Given the description of an element on the screen output the (x, y) to click on. 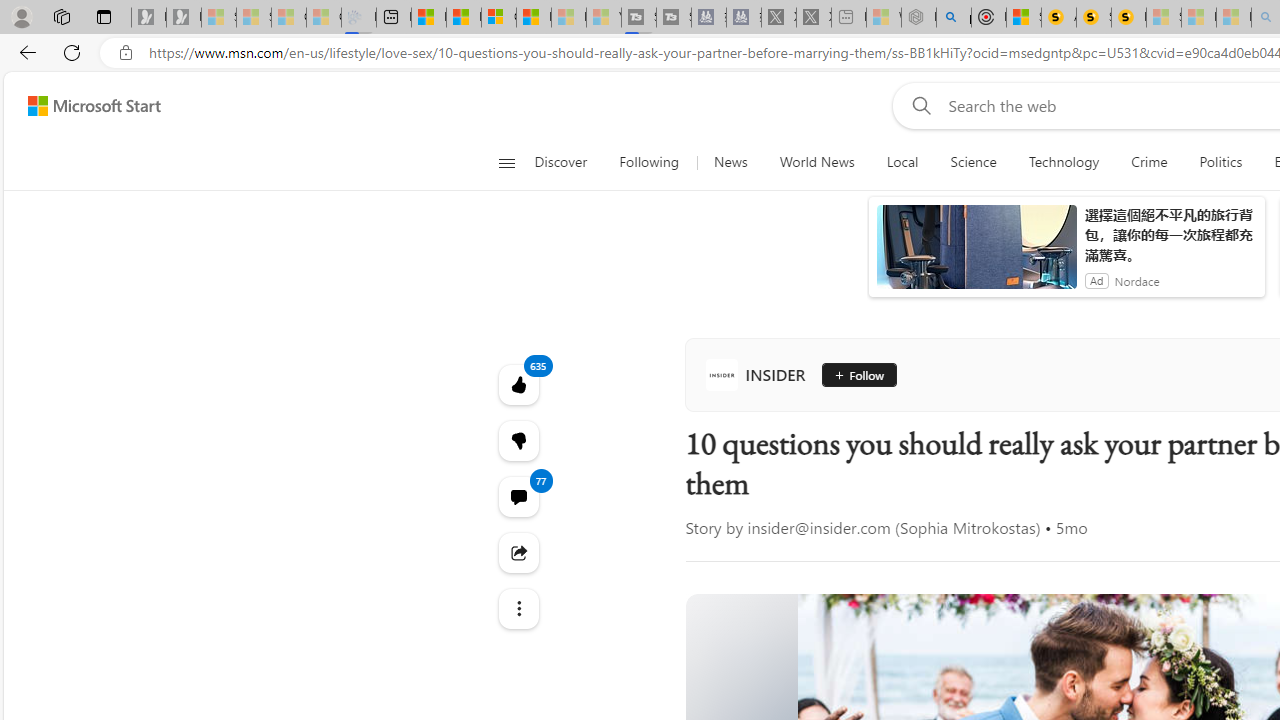
Microsoft Start - Sleeping (568, 17)
Share this story (517, 552)
Class: button-glyph (505, 162)
Science (973, 162)
